Given the description of an element on the screen output the (x, y) to click on. 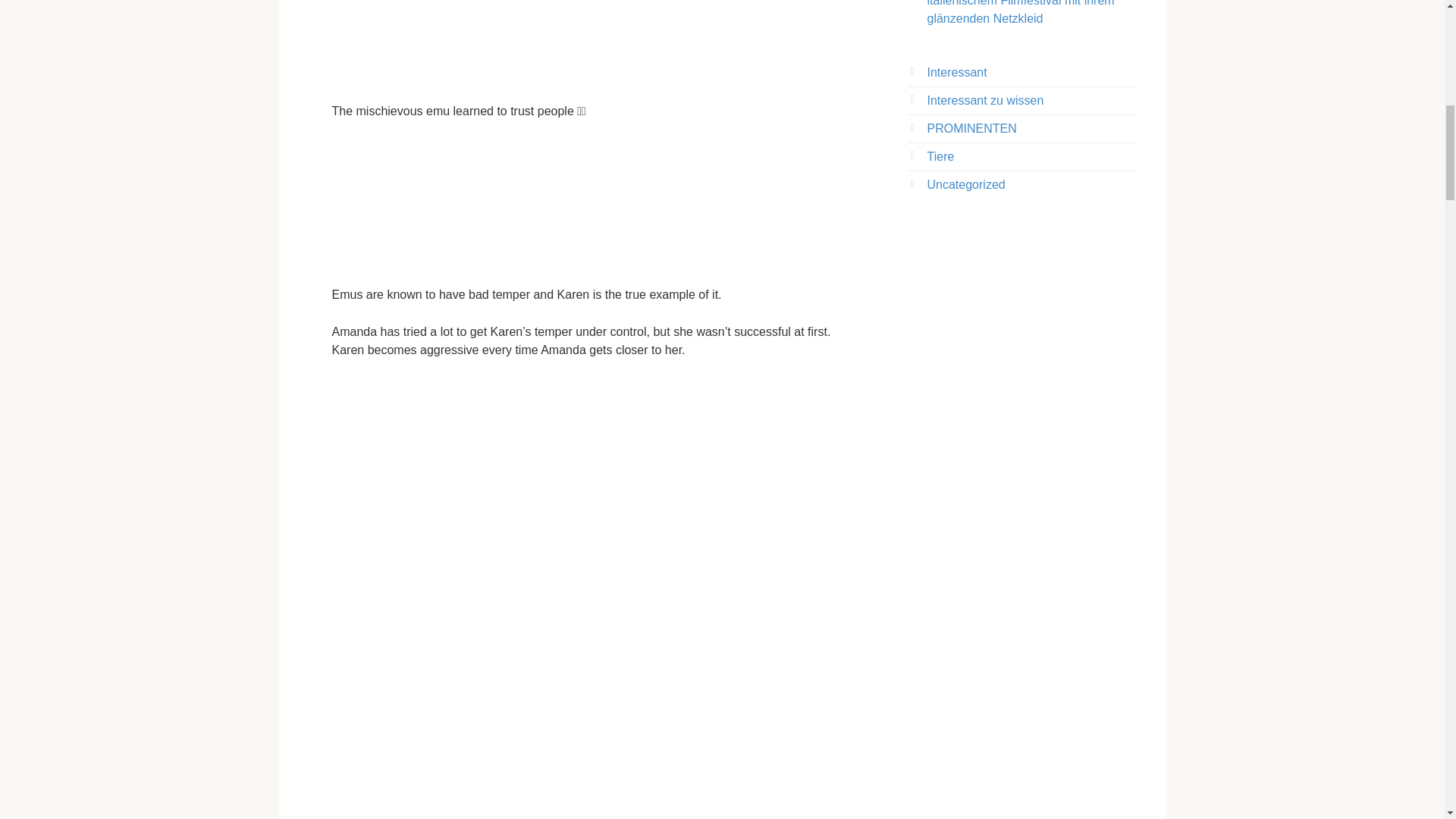
Advertisement (585, 202)
Advertisement (585, 442)
Advertisement (585, 41)
